Given the description of an element on the screen output the (x, y) to click on. 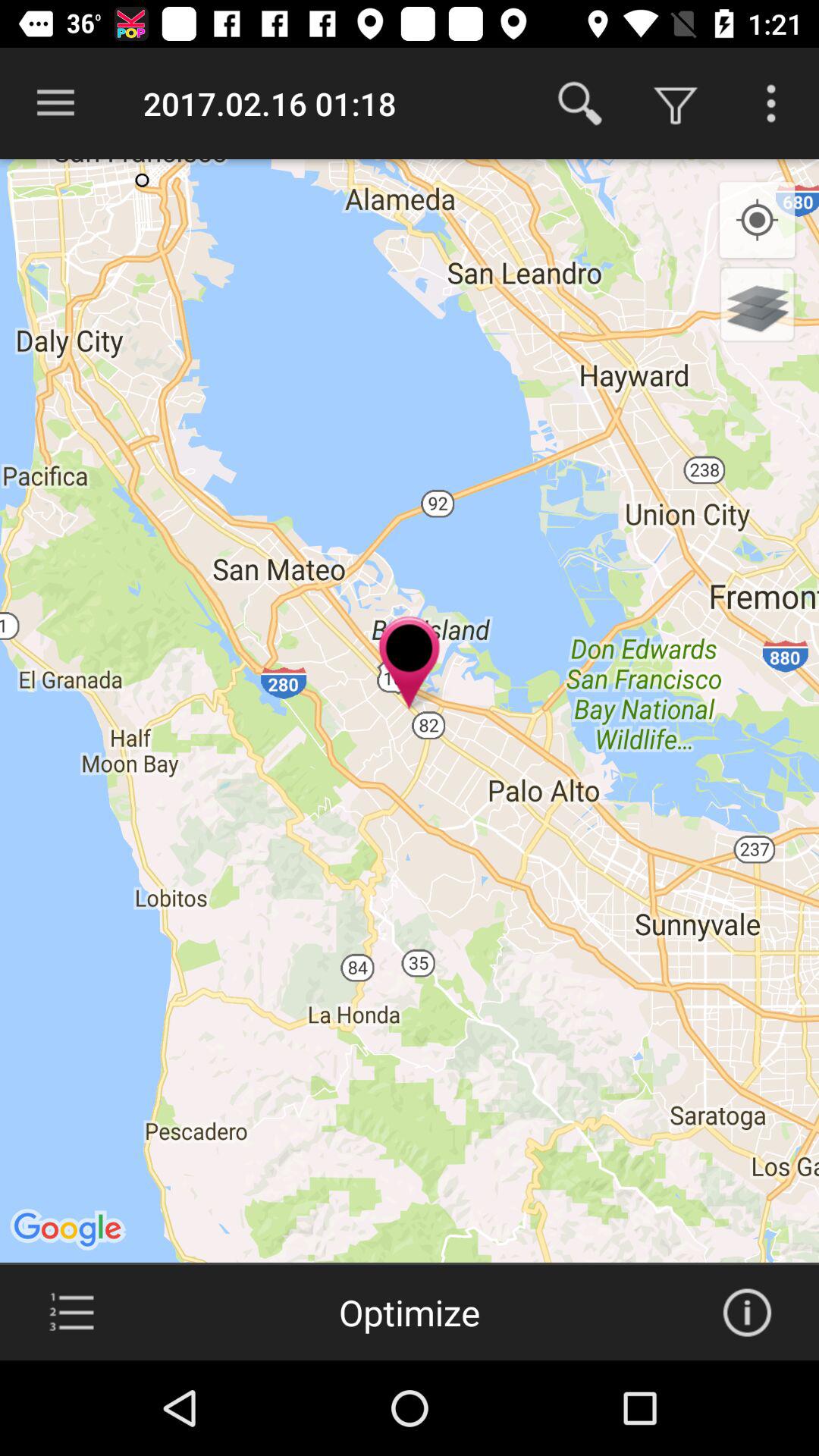
switch to 3d view (757, 304)
